Given the description of an element on the screen output the (x, y) to click on. 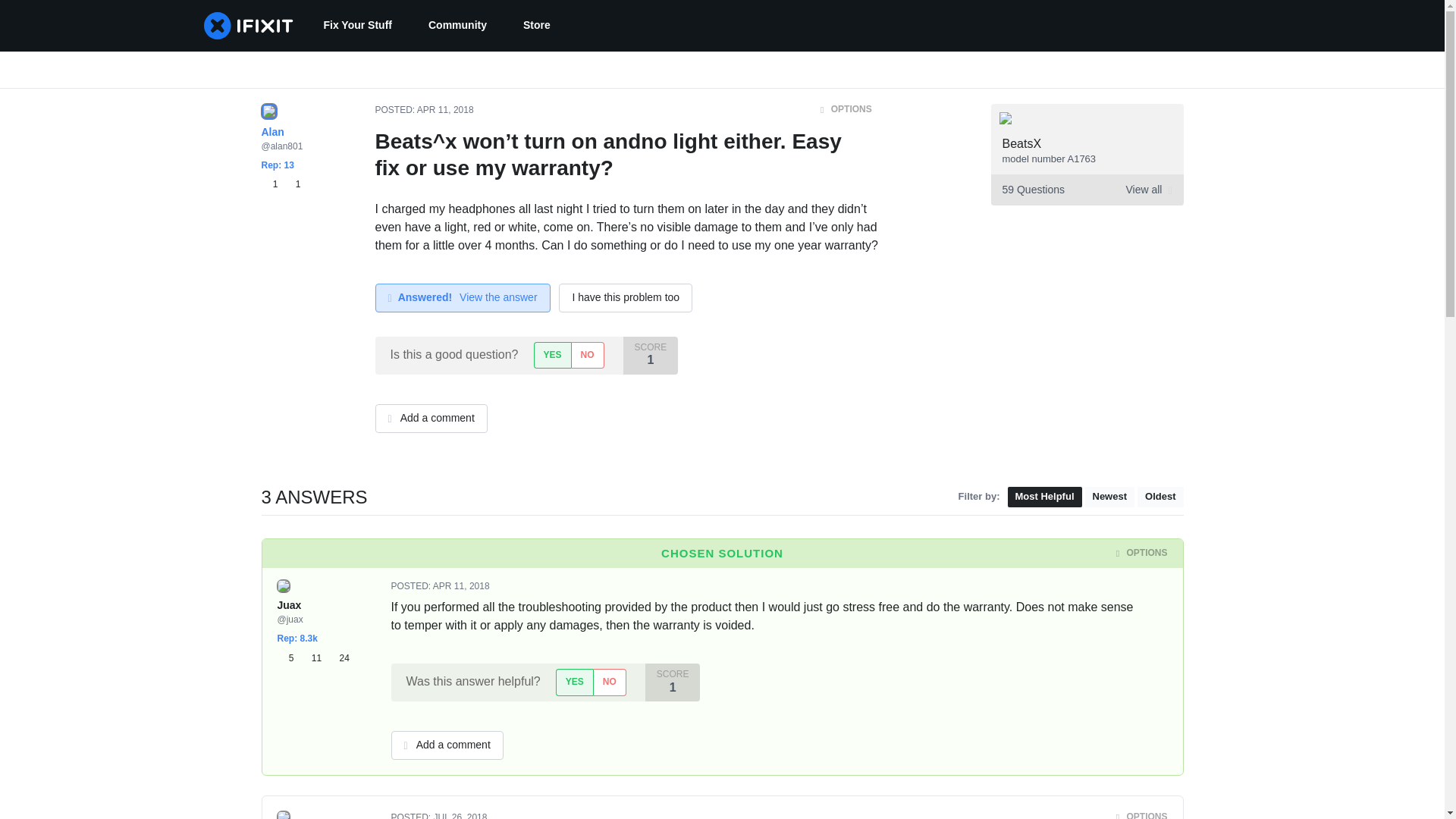
Community (457, 25)
11 Silver badges (314, 658)
1 Silver badges (1086, 189)
Add a comment (292, 184)
Store (447, 745)
POSTED: APR 11, 2018 (537, 25)
5 Bronze badges (440, 585)
Wed, 11 Apr 2018 23:53:46 -0700 (288, 658)
Oldest (460, 585)
Wed, 11 Apr 2018 20:01:18 -0700 (1159, 496)
Fix Your Stuff (445, 109)
YES (356, 25)
YES (574, 682)
I have this problem too (552, 355)
